Given the description of an element on the screen output the (x, y) to click on. 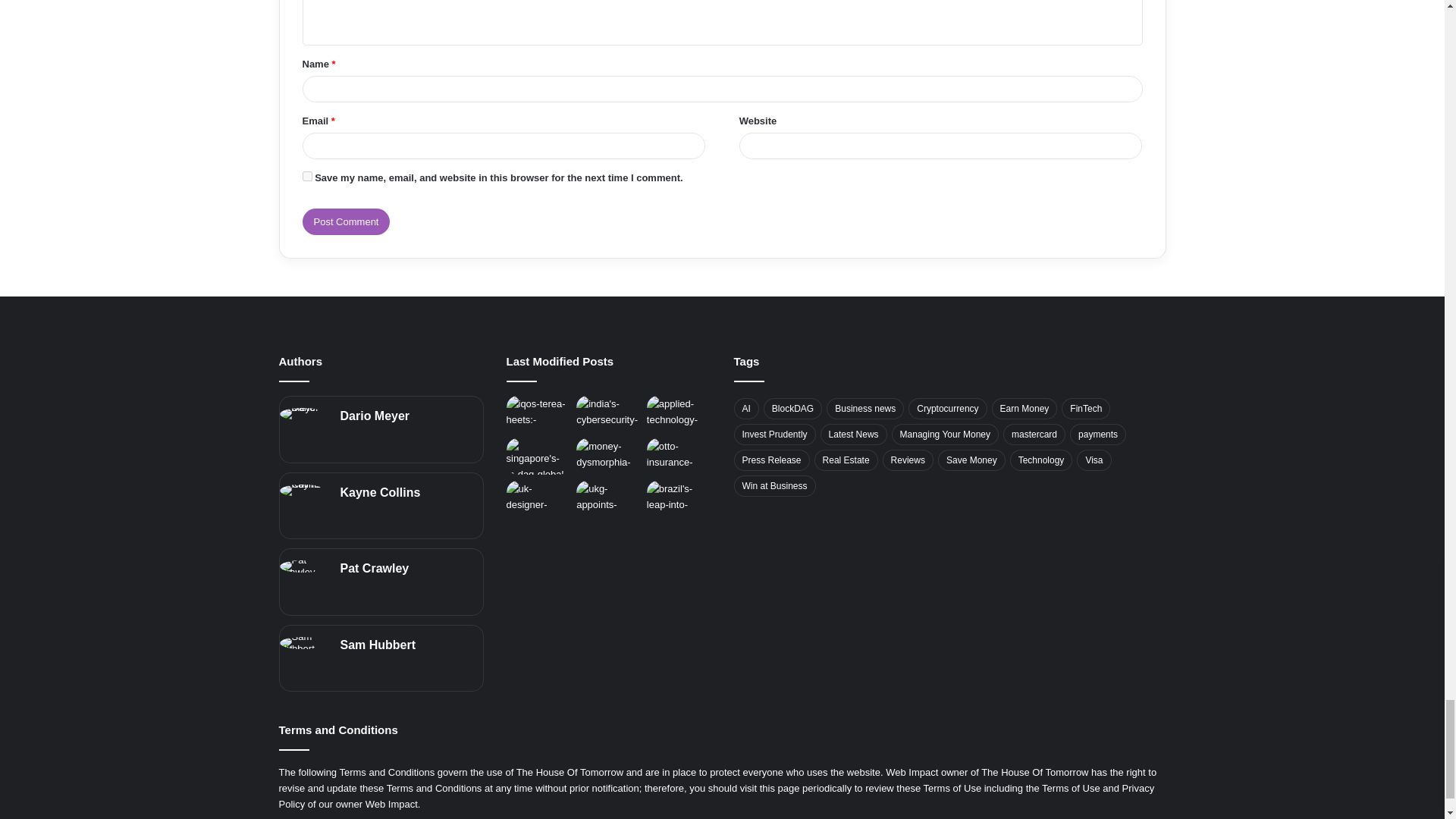
Post Comment (345, 221)
yes (306, 175)
